Given the description of an element on the screen output the (x, y) to click on. 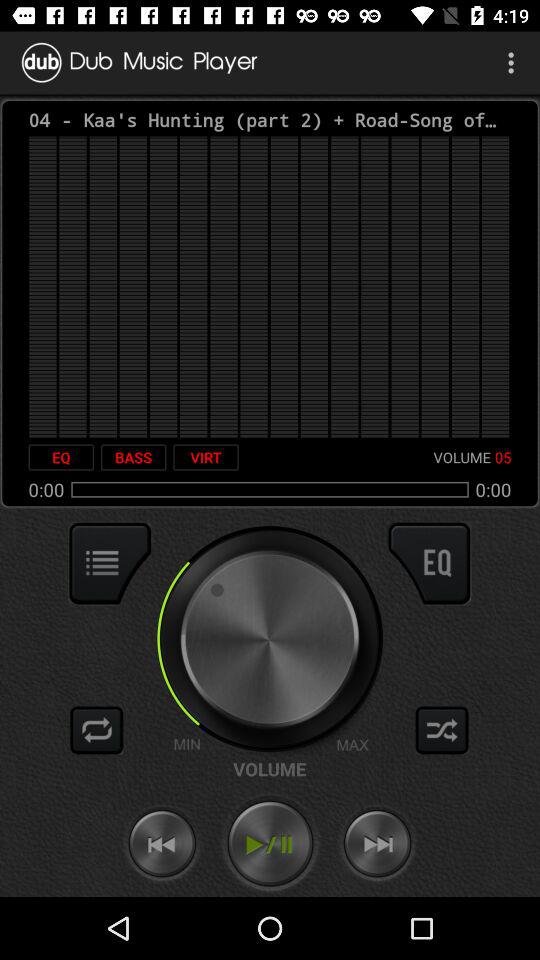
toggle repeat option (97, 730)
